Given the description of an element on the screen output the (x, y) to click on. 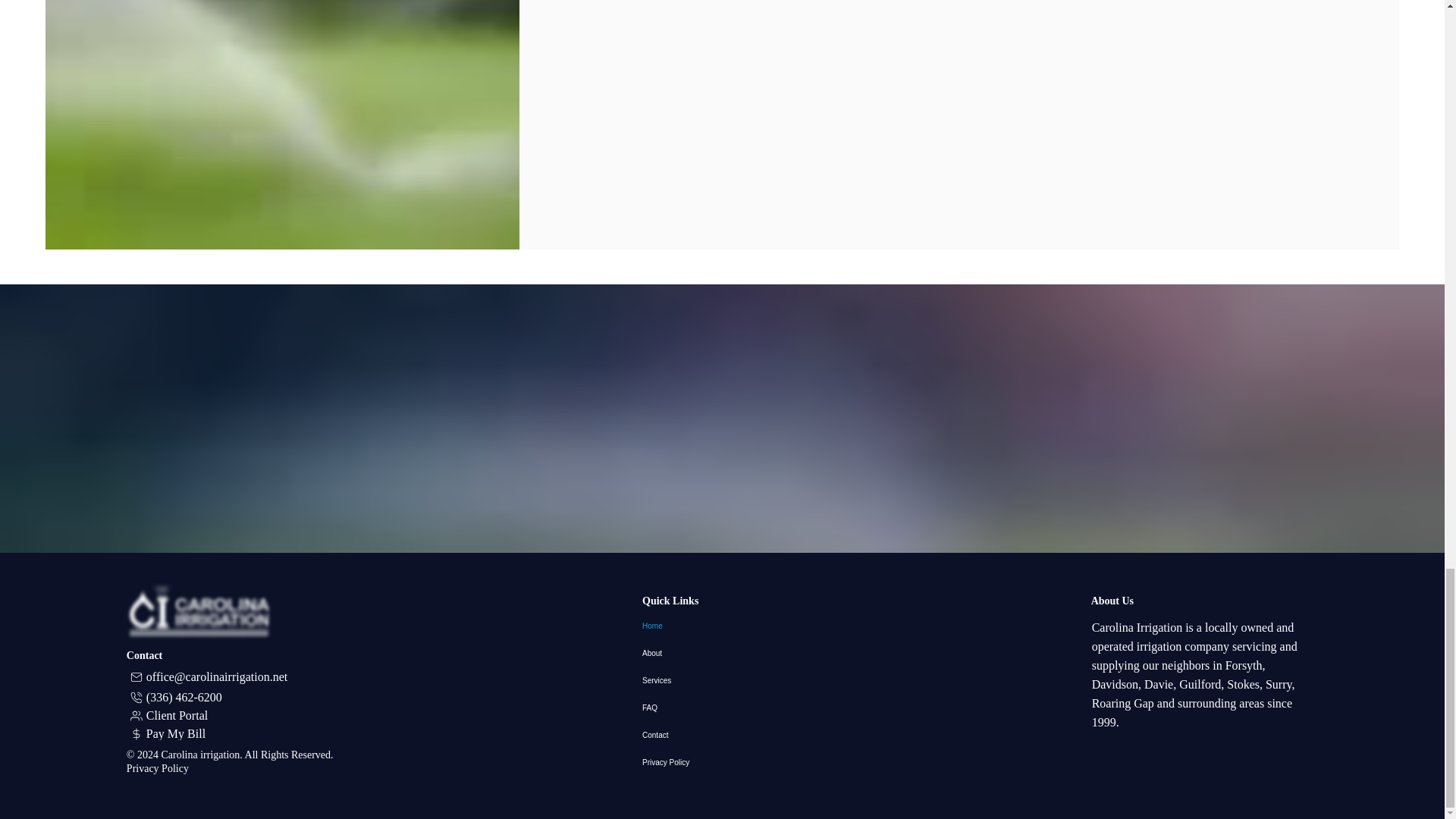
Services (722, 680)
Pay My Bill (170, 733)
About (722, 653)
Home (722, 625)
Client Portal (170, 715)
CILogowht.png (199, 609)
Contact (722, 735)
Privacy Policy (157, 767)
Privacy Policy (722, 762)
FAQ (722, 707)
